Given the description of an element on the screen output the (x, y) to click on. 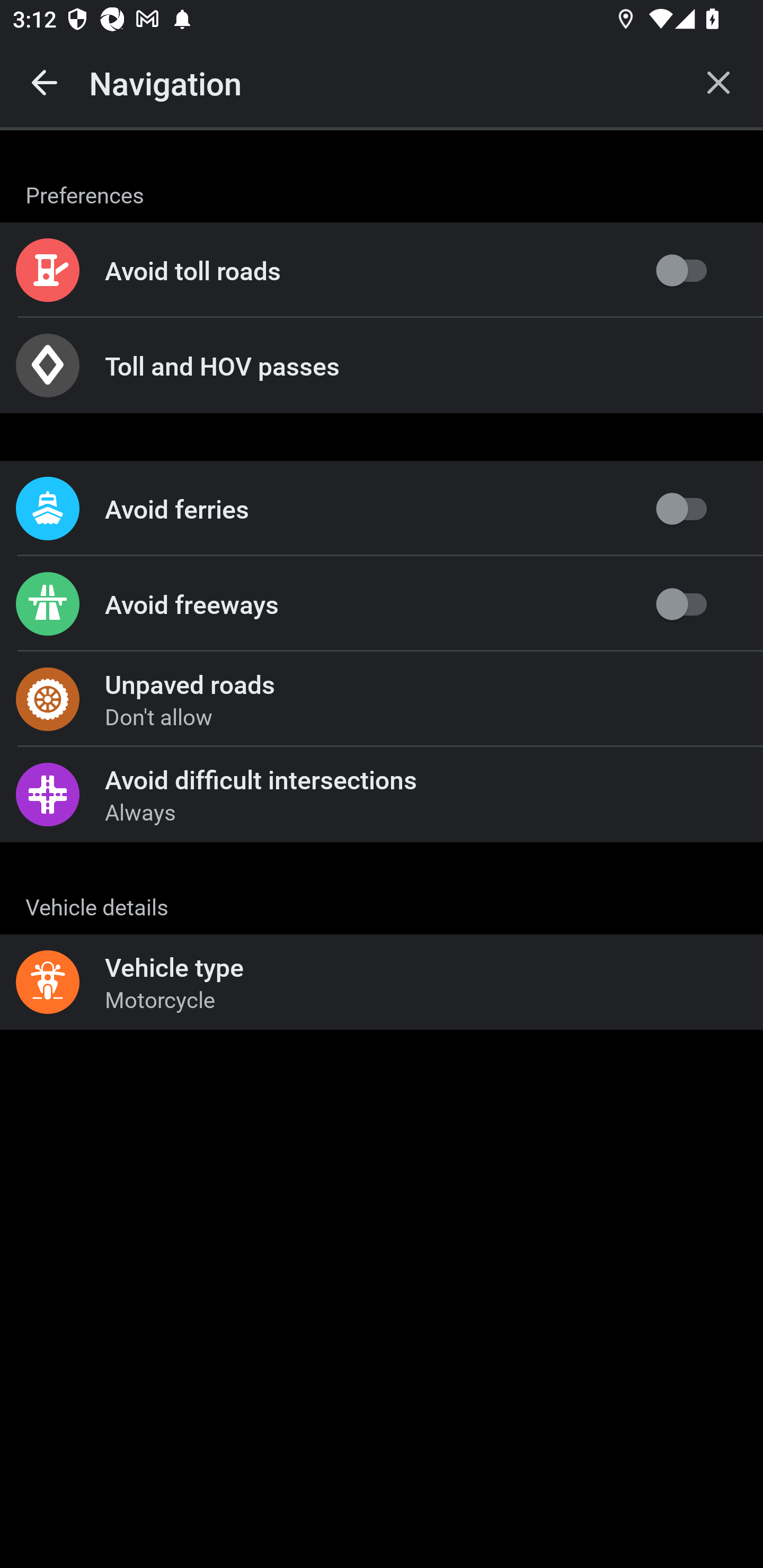
Avoid toll roads (381, 270)
Toll and HOV passes (381, 365)
Avoid ferries (381, 508)
Avoid freeways (381, 604)
Unpaved roads Don't allow (381, 699)
Avoid difficult intersections Always (381, 794)
ACTION_CELL_ICON Shut off ACTION_CELL_TEXT (381, 891)
Vehicle type Motorcycle (381, 982)
